Given the description of an element on the screen output the (x, y) to click on. 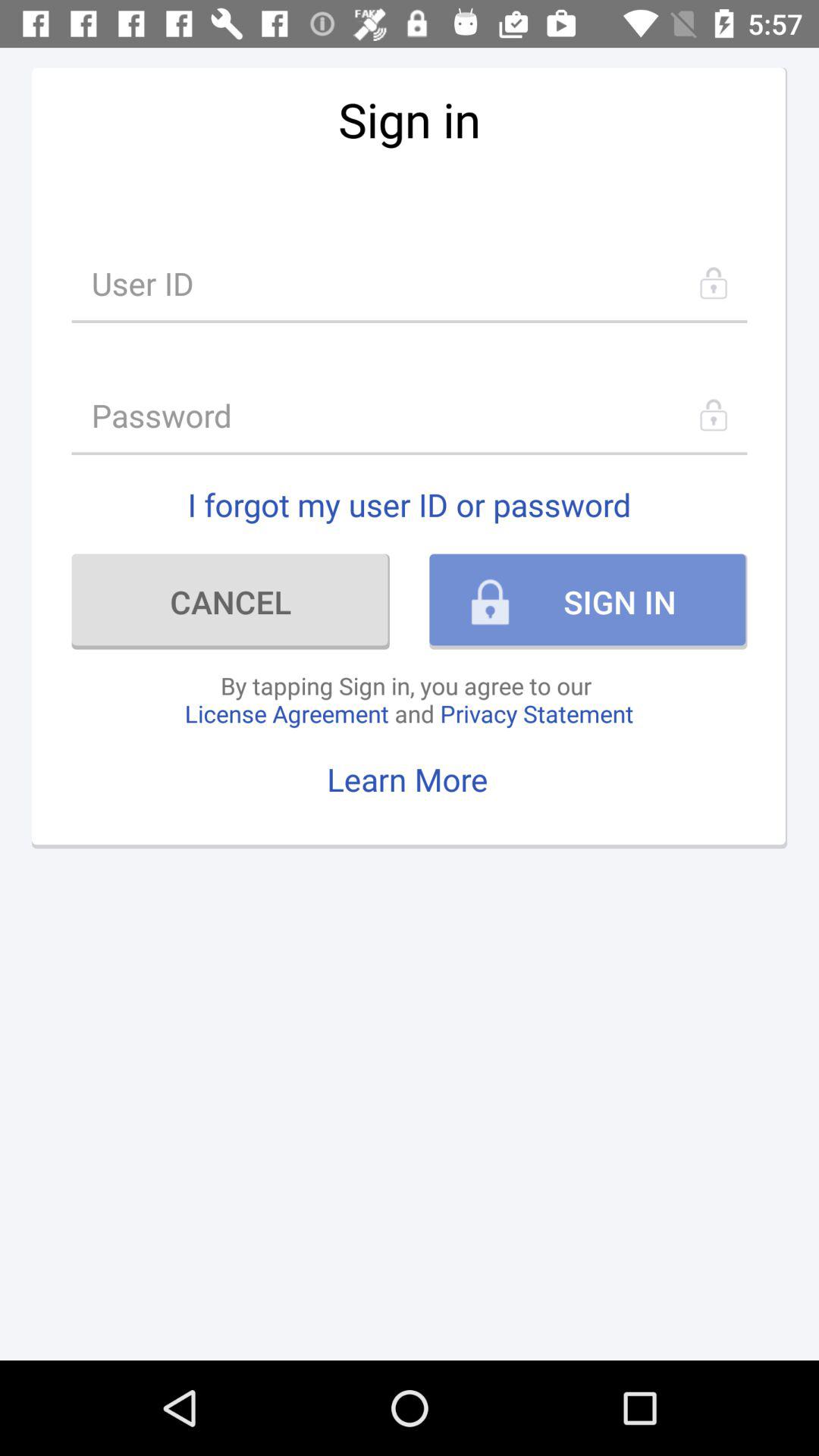
tap item above learn more (408, 699)
